Given the description of an element on the screen output the (x, y) to click on. 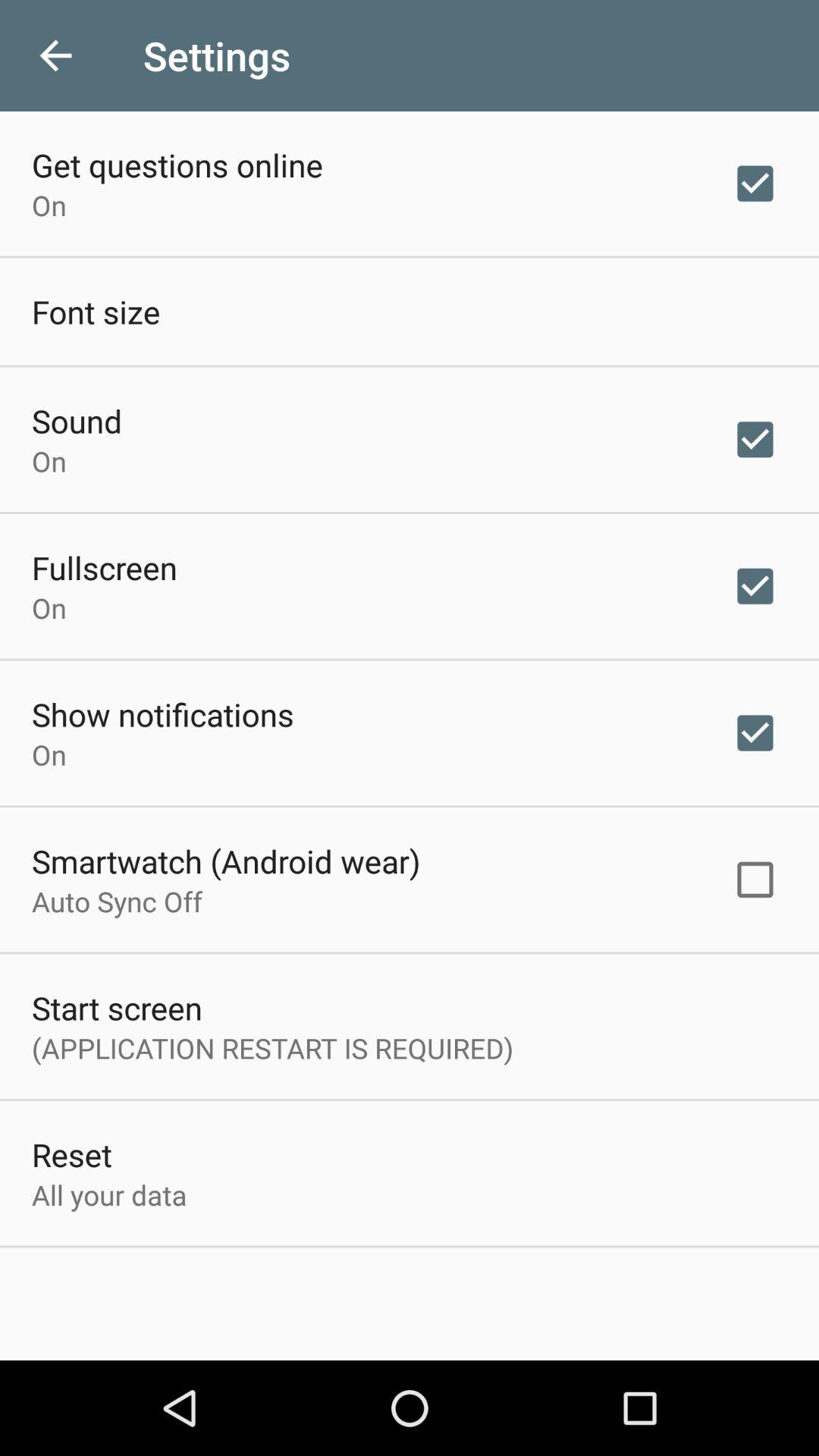
turn on the icon above the on icon (76, 420)
